Given the description of an element on the screen output the (x, y) to click on. 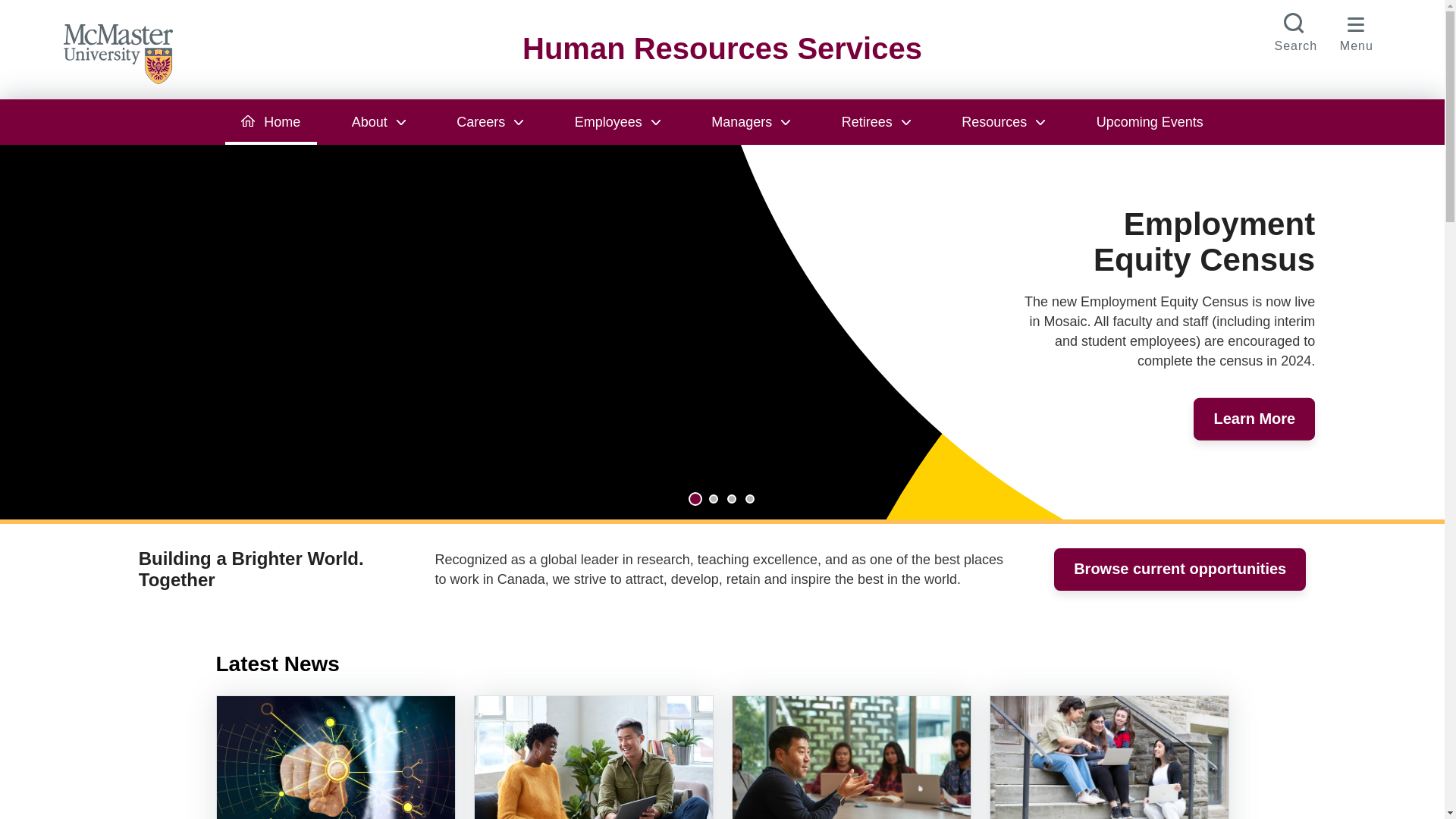
Careers (489, 121)
MENU BUTTON (1356, 31)
Retirees (875, 121)
Home (269, 121)
Employees (616, 121)
MCMASTER LOGO (125, 52)
About (378, 121)
Human Resources Services (721, 48)
SEARCH BUTTON (1295, 31)
Managers (750, 121)
